Given the description of an element on the screen output the (x, y) to click on. 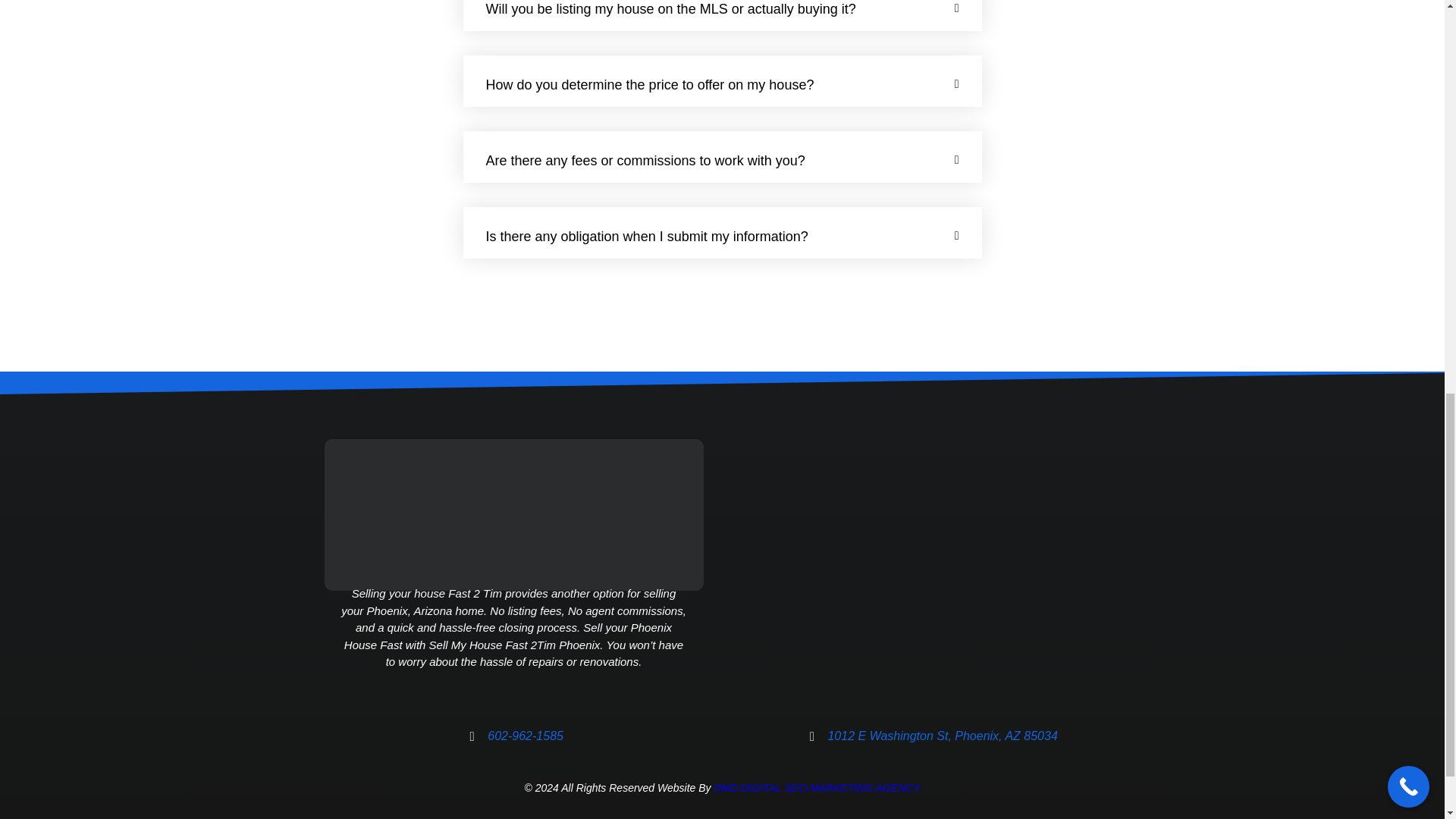
Sell My House To Tim Phoenix (920, 569)
Are there any fees or commissions to work with you? (644, 160)
DMD DIGITAL SEO MARKETING AGENCY (816, 787)
How do you determine the price to offer on my house? (648, 84)
Is there any obligation when I submit my information? (646, 236)
